Given the description of an element on the screen output the (x, y) to click on. 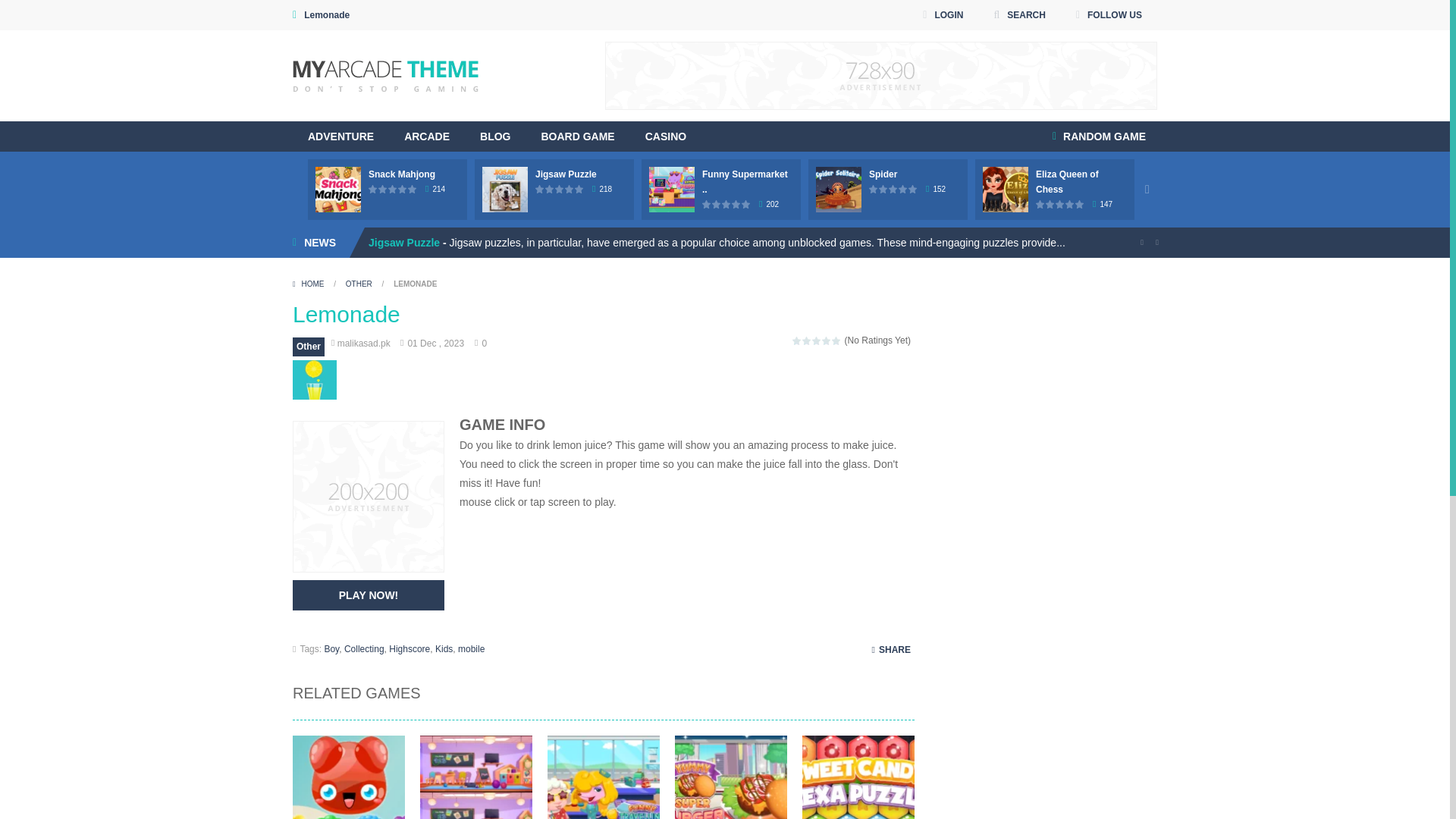
Jigsaw Puzzle (565, 173)
0 votes, average: 0.00 out of 5 (392, 189)
0 votes, average: 0.00 out of 5 (402, 189)
RANDOM GAME (1099, 136)
0 votes, average: 0.00 out of 5 (549, 189)
Funny Supermarket .. (744, 181)
SEARCH (1019, 15)
0 votes, average: 0.00 out of 5 (539, 189)
Snack Mahjong (401, 173)
0 votes, average: 0.00 out of 5 (383, 189)
Spider (882, 173)
ADVENTURE (340, 136)
0 votes, average: 0.00 out of 5 (706, 203)
FOLLOW US (1108, 15)
LOGIN (942, 15)
